Given the description of an element on the screen output the (x, y) to click on. 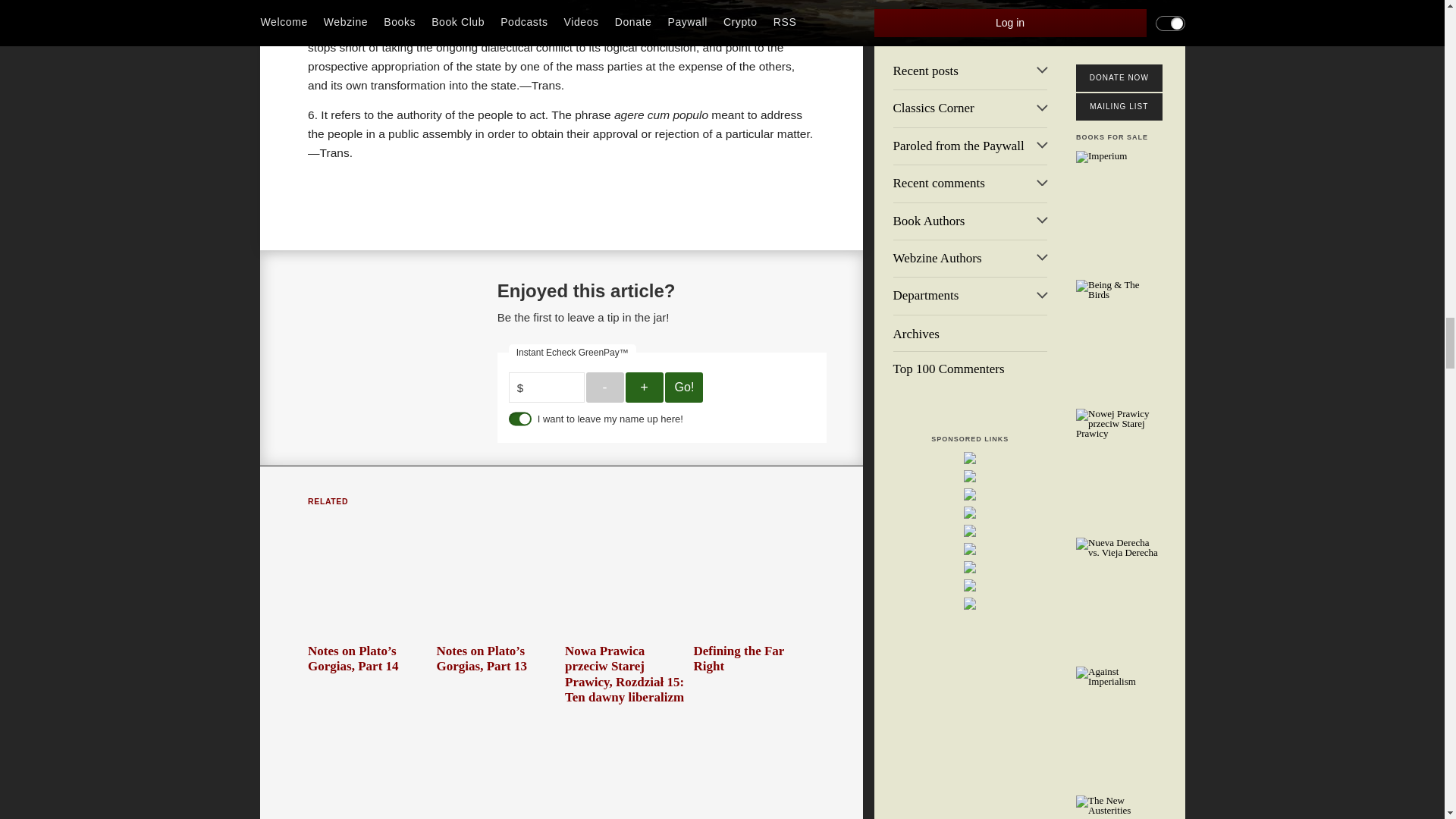
Go! (684, 387)
